Given the description of an element on the screen output the (x, y) to click on. 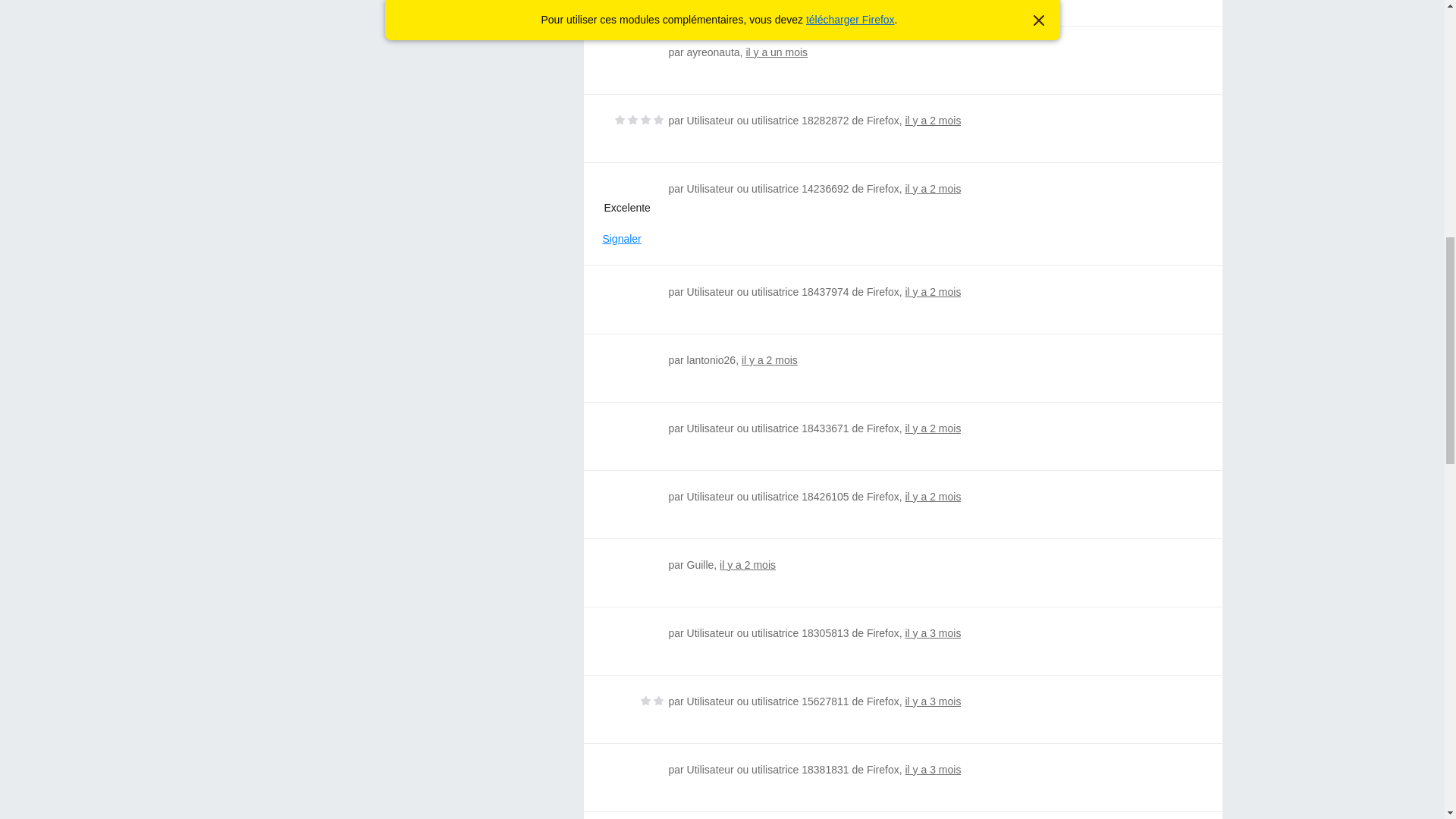
il y a 2 mois (932, 120)
il y a un mois (776, 51)
il y a 2 mois (769, 359)
il y a 3 mois (932, 769)
il y a 3 mois (932, 633)
il y a 2 mois (932, 428)
il y a 2 mois (932, 496)
il y a 2 mois (747, 564)
il y a 2 mois (932, 188)
il y a 3 mois (932, 701)
il y a 2 mois (932, 291)
Signaler (621, 238)
